Given the description of an element on the screen output the (x, y) to click on. 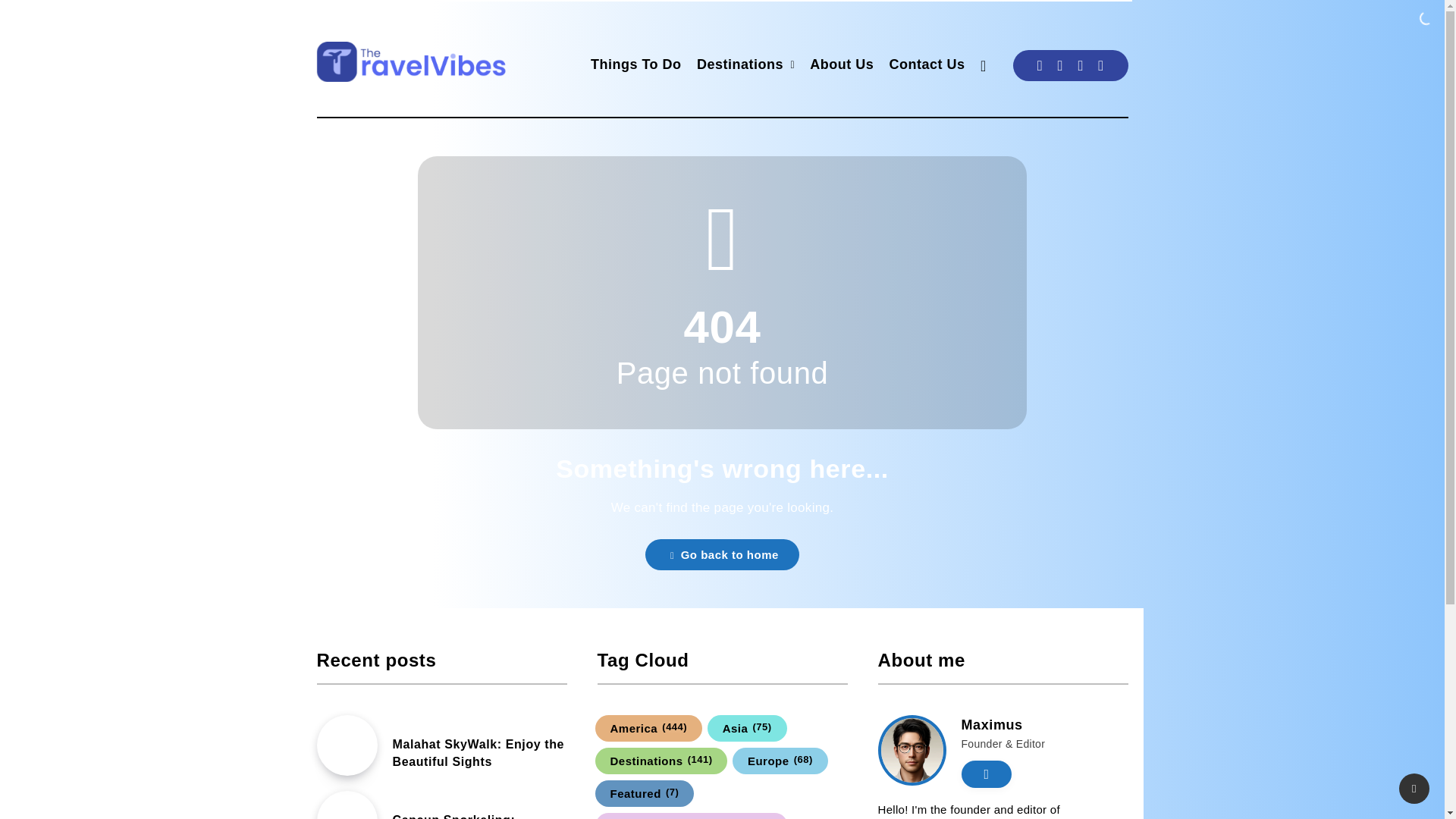
About Us (841, 65)
Contact Us (927, 65)
Destinations (740, 65)
Things To Do (636, 65)
Cancun Snorkeling: Discover Underwater Wonders (457, 816)
Maximus (991, 726)
 Go back to home (722, 554)
Malahat SkyWalk: Enjoy the Beautiful Sights (478, 754)
